Given the description of an element on the screen output the (x, y) to click on. 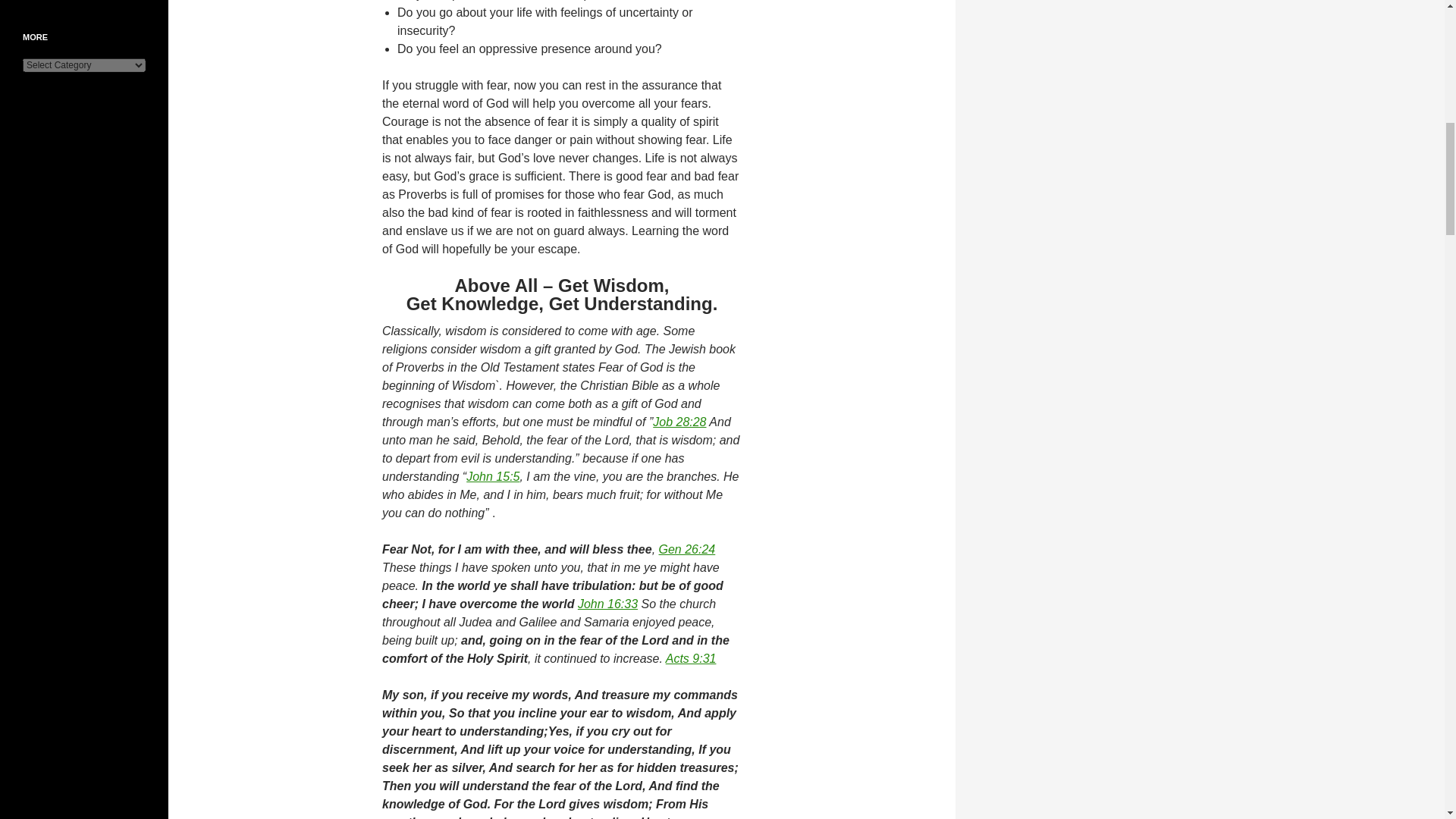
Job 28:28 (679, 421)
John 16:33 (607, 603)
Acts 9:31 (690, 658)
Gen 26:24 (687, 549)
John 15:5 (492, 476)
